Given the description of an element on the screen output the (x, y) to click on. 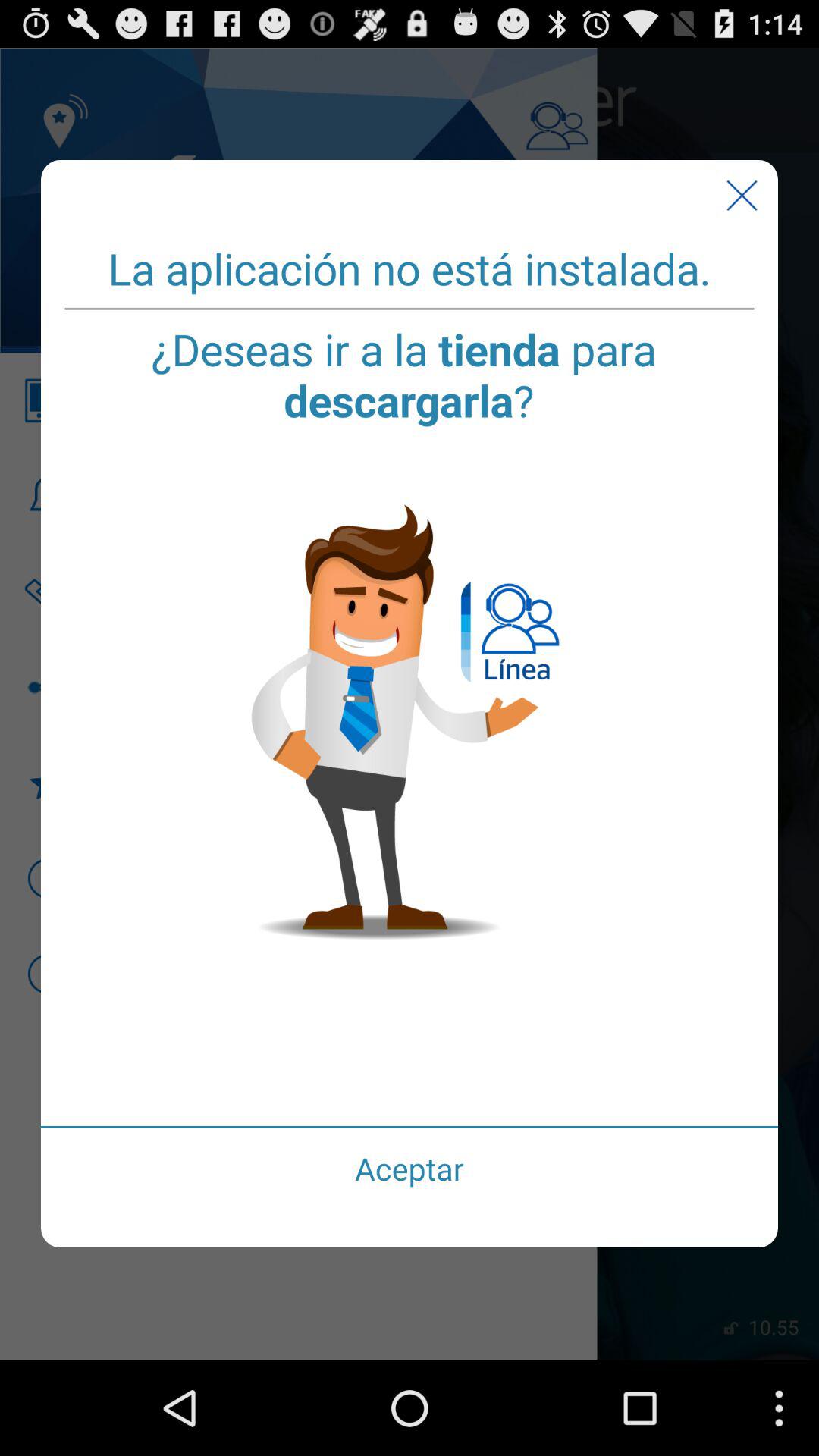
close this popup (742, 195)
